Given the description of an element on the screen output the (x, y) to click on. 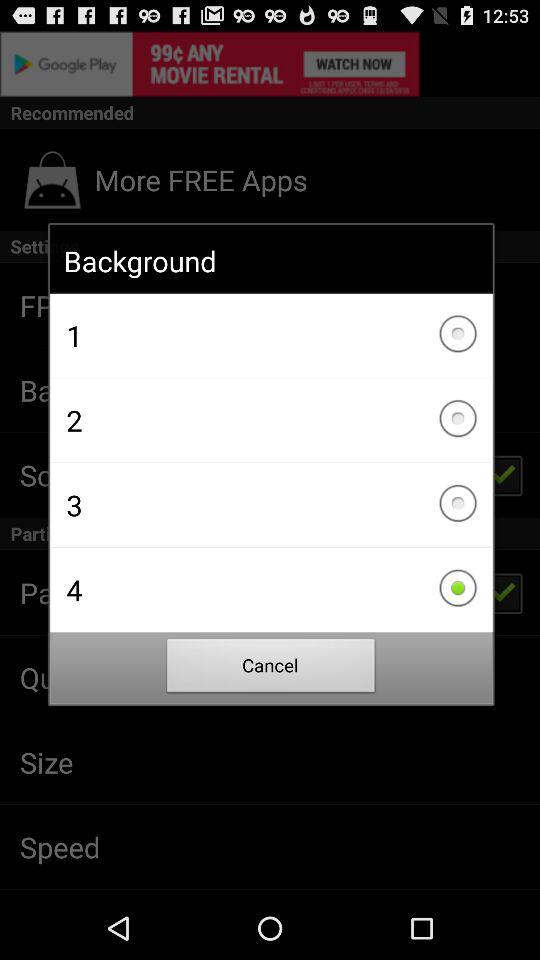
swipe until the cancel item (271, 668)
